Given the description of an element on the screen output the (x, y) to click on. 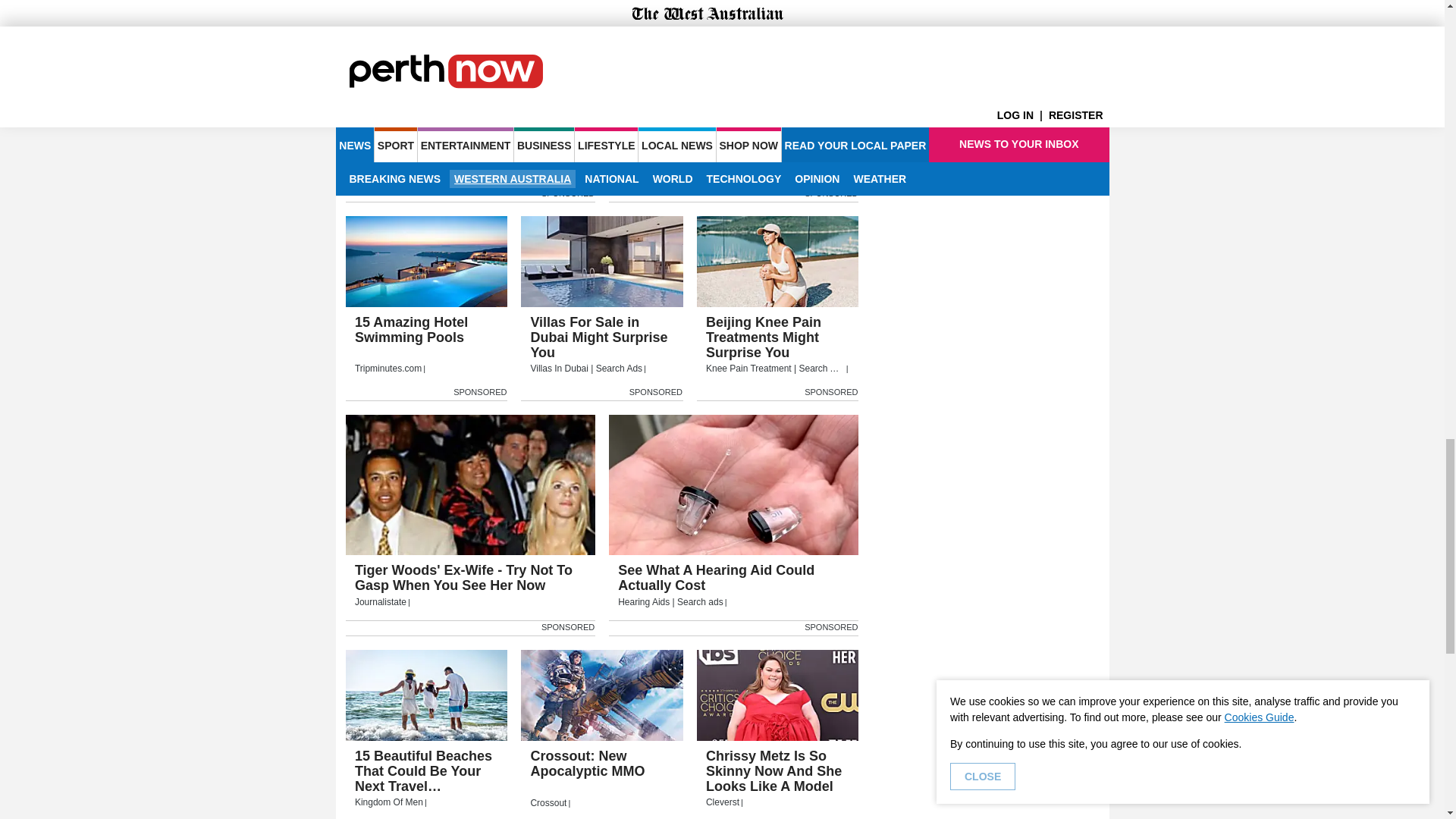
Unsold Luxury Hotel Reservations 2023 (733, 154)
Fertility Clinics Might Be Better Than You Think (470, 60)
15 Amazing Hotel Swimming Pools (427, 261)
Beijing Knee Pain Treatments Might Surprise You (778, 346)
Villas For Sale in Dubai Might Surprise You (601, 261)
Beijing Knee Pain Treatments Might Surprise You (778, 261)
Unsold Luxury Hotel Reservations 2023 (733, 60)
Villas For Sale in Dubai Might Surprise You (601, 346)
Fertility Clinics Might Be Better Than You Think (470, 154)
15 Amazing Hotel Swimming Pools (427, 346)
